Given the description of an element on the screen output the (x, y) to click on. 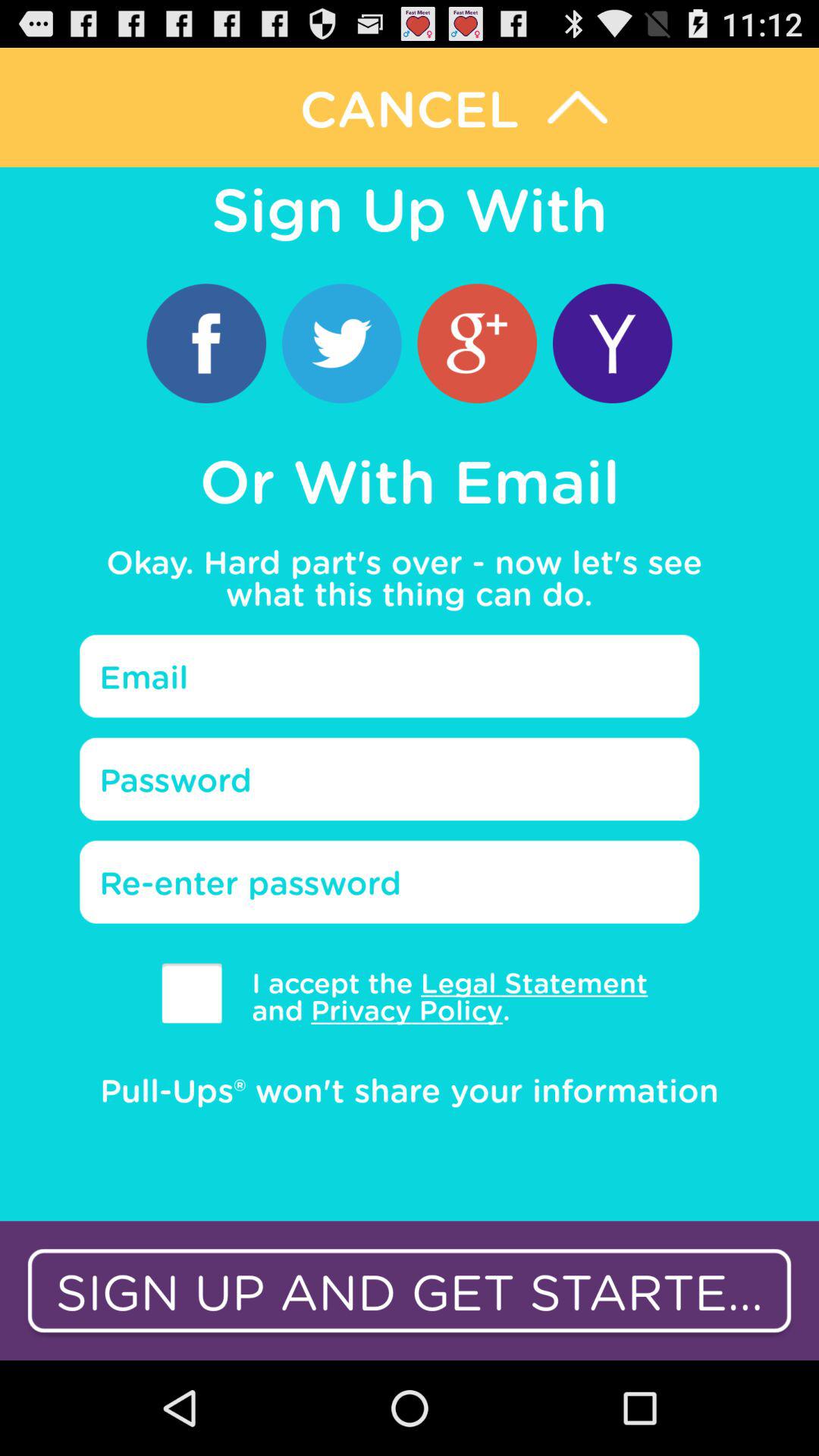
launch the i accept the item (438, 995)
